Given the description of an element on the screen output the (x, y) to click on. 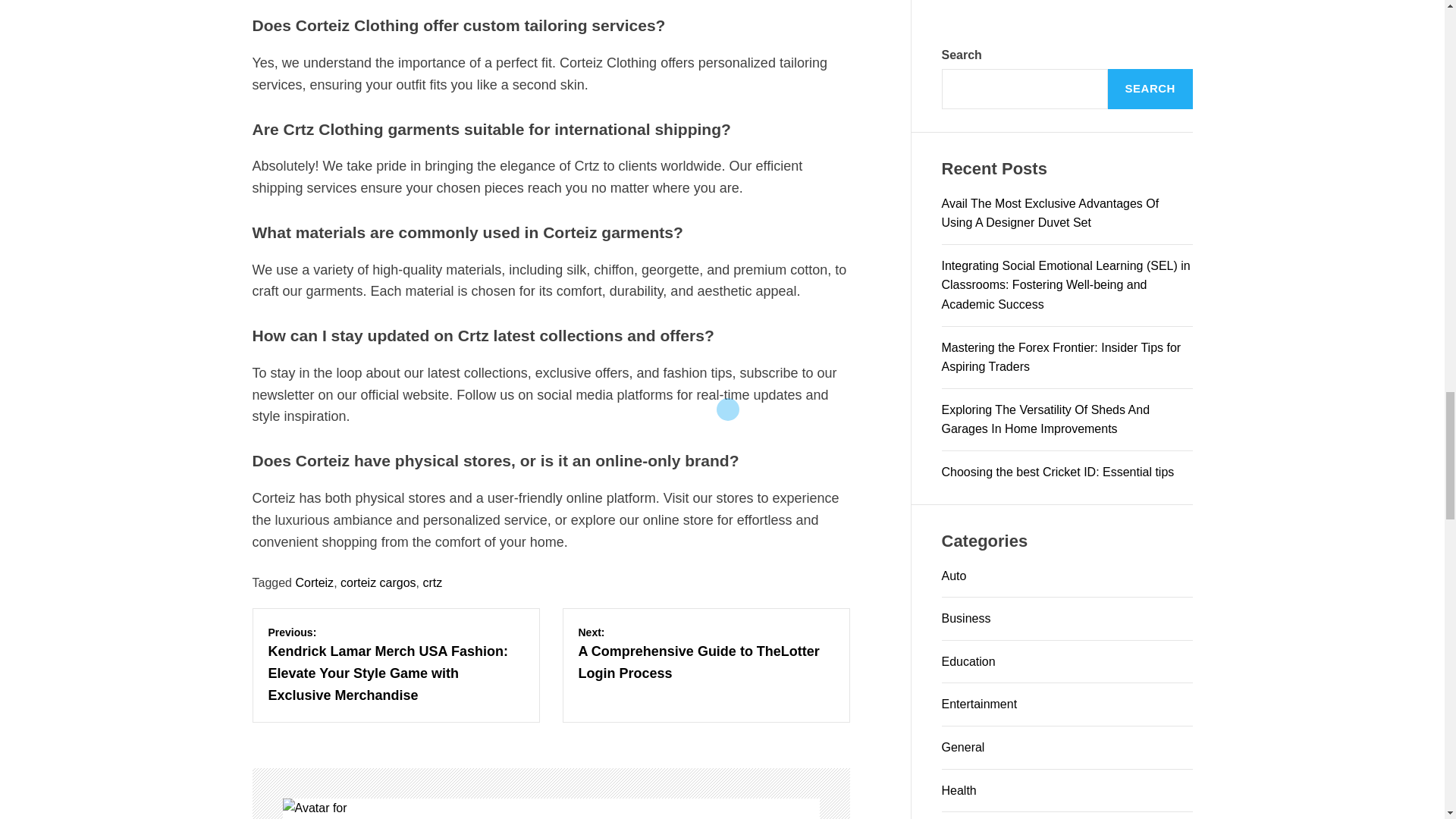
corteiz cargos (378, 582)
Corteiz (314, 582)
zaramariam01 (325, 808)
